Given the description of an element on the screen output the (x, y) to click on. 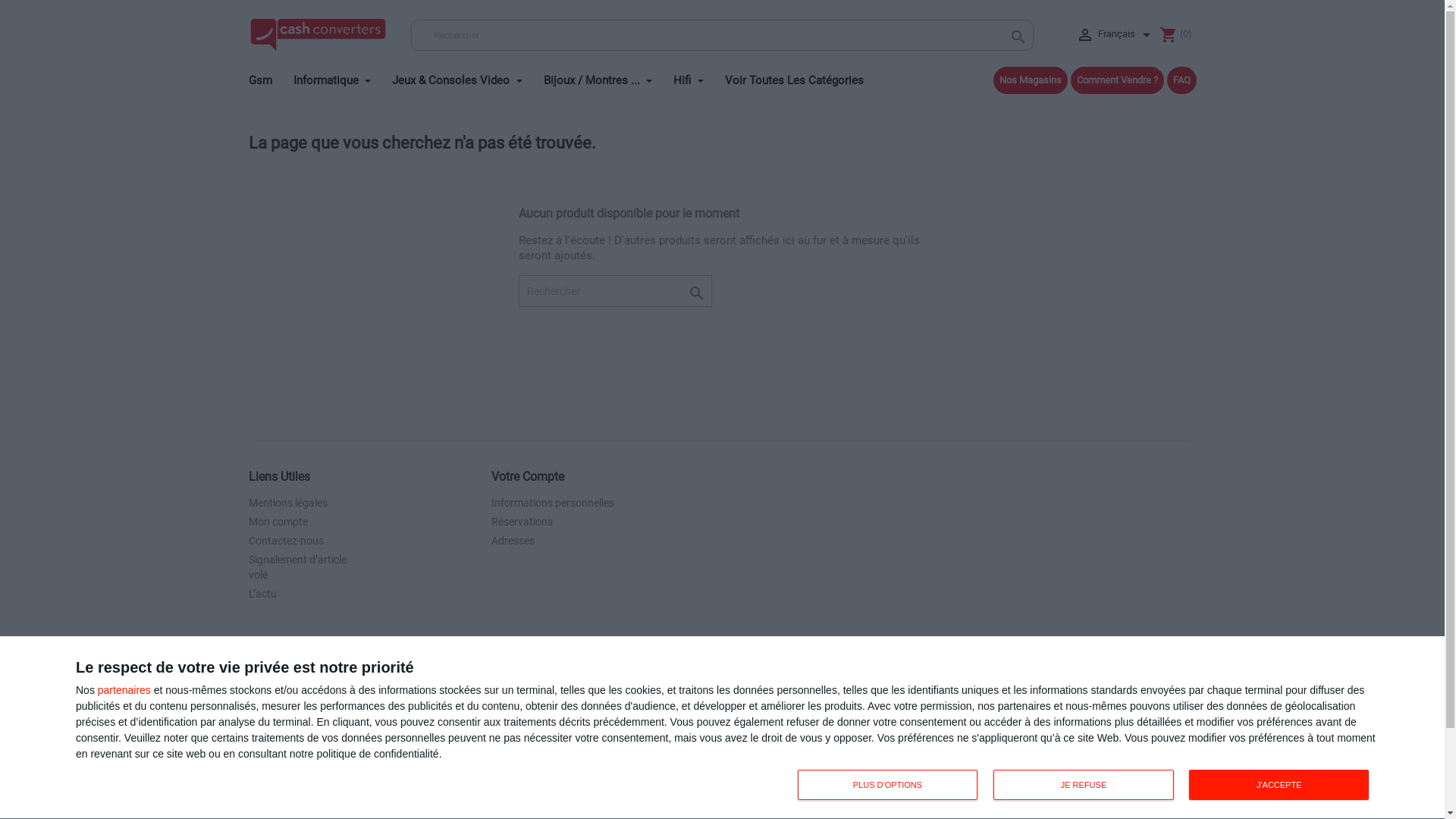
Comment Vendre ? Element type: text (1117, 80)
Mon compte Element type: text (277, 521)
Jeux & Consoles Video Element type: text (466, 76)
Informatique Element type: text (340, 76)
Bijoux / Montres ... Element type: text (606, 76)
Adresses Element type: text (512, 540)
JE REFUSE Element type: text (1083, 784)
Nos Magasins Element type: text (1030, 80)
Hifi Element type: text (697, 76)
Contactez-nous Element type: text (285, 540)
PLUS D'OPTIONS Element type: text (887, 784)
J'ACCEPTE Element type: text (1278, 784)
Informations personnelles Element type: text (552, 502)
Votre Compte Element type: text (527, 476)
partenaires Element type: text (123, 689)
FAQ Element type: text (1180, 80)
Gsm Element type: text (269, 76)
